Given the description of an element on the screen output the (x, y) to click on. 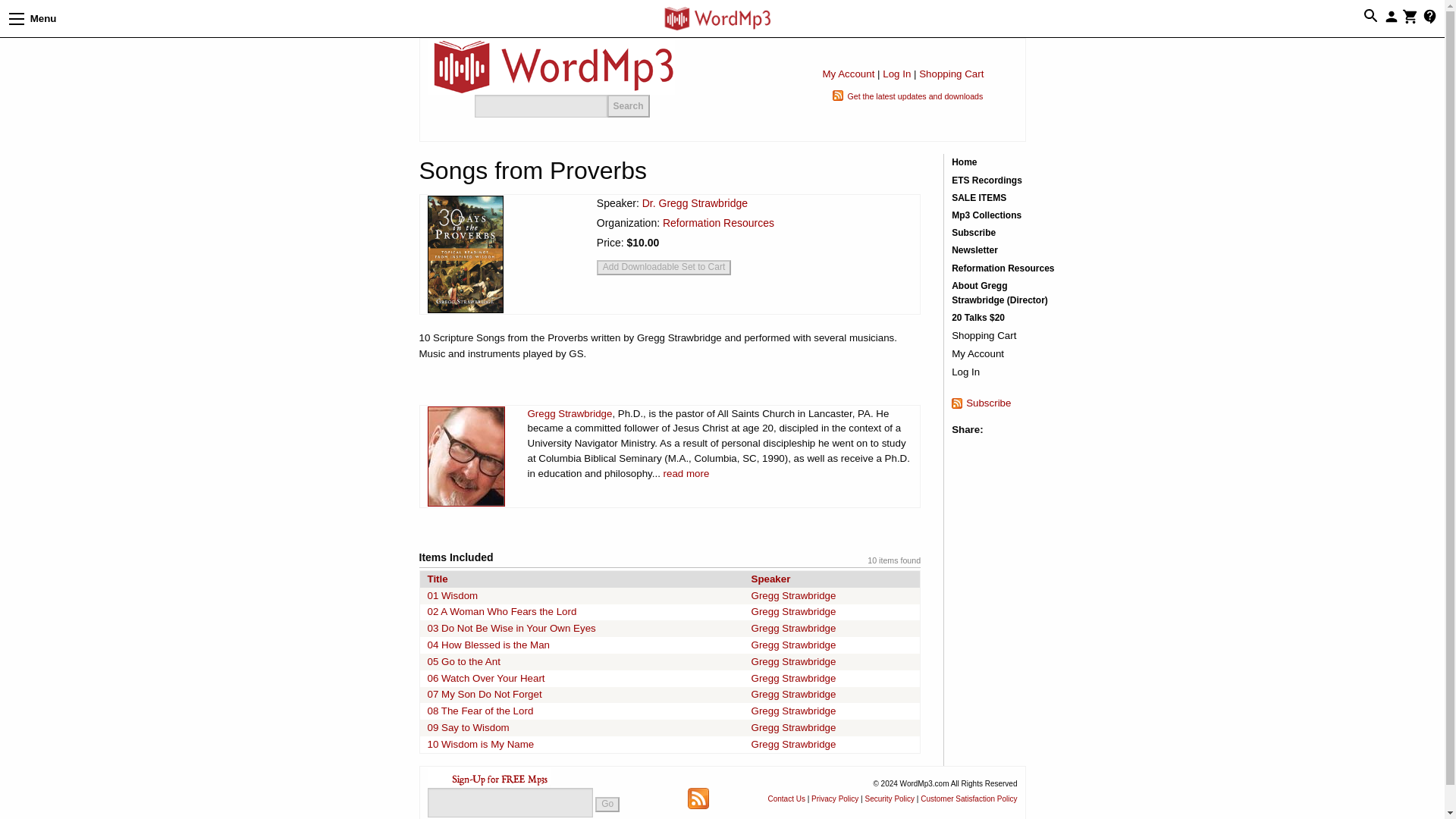
02 A Woman Who Fears the Lord (502, 611)
01 Wisdom (453, 595)
Gregg Strawbridge (793, 661)
Gregg Strawbridge (569, 413)
Add Downloadable Set to Cart (663, 267)
Shopping Cart (951, 73)
Add Downloadable Set to Cart (663, 267)
My Account (848, 73)
Gregg Strawbridge (793, 595)
Gregg Strawbridge (793, 611)
Reformation Resources (718, 223)
Gregg Strawbridge (793, 627)
Log In (896, 73)
04 How Blessed is the Man (489, 644)
Get the latest updates and downloads (914, 95)
